Given the description of an element on the screen output the (x, y) to click on. 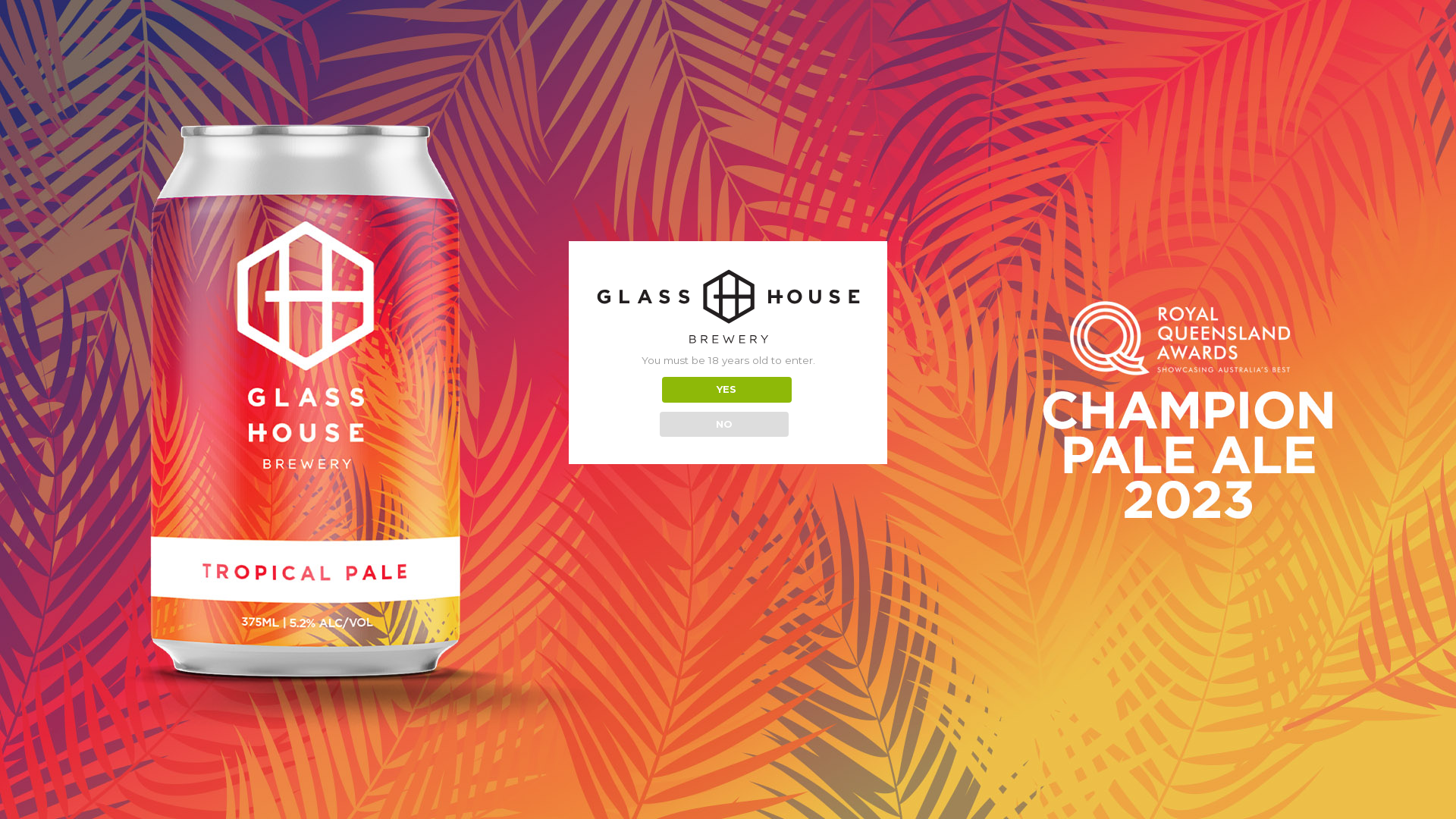
WHERE TO BUY Element type: text (740, 571)
YES Element type: text (726, 389)
Where to Buy Element type: text (727, 398)
Contract Brewing Element type: text (727, 373)
Beers Element type: text (727, 347)
Contact Us Element type: text (727, 424)
team@glasshousebrewery.com.au Element type: text (1000, 433)
HOME Element type: text (647, 571)
Send us an email Element type: hover (477, 486)
CONTACT Element type: text (802, 571)
NO Element type: text (724, 424)
Follow on Instagram Element type: hover (454, 486)
Follow on Facebook Element type: hover (431, 486)
Home Element type: text (727, 322)
BEERS Element type: text (683, 571)
Glass House Brewery - Forest Glen | Sunshine Coast Element type: hover (727, 26)
